Given the description of an element on the screen output the (x, y) to click on. 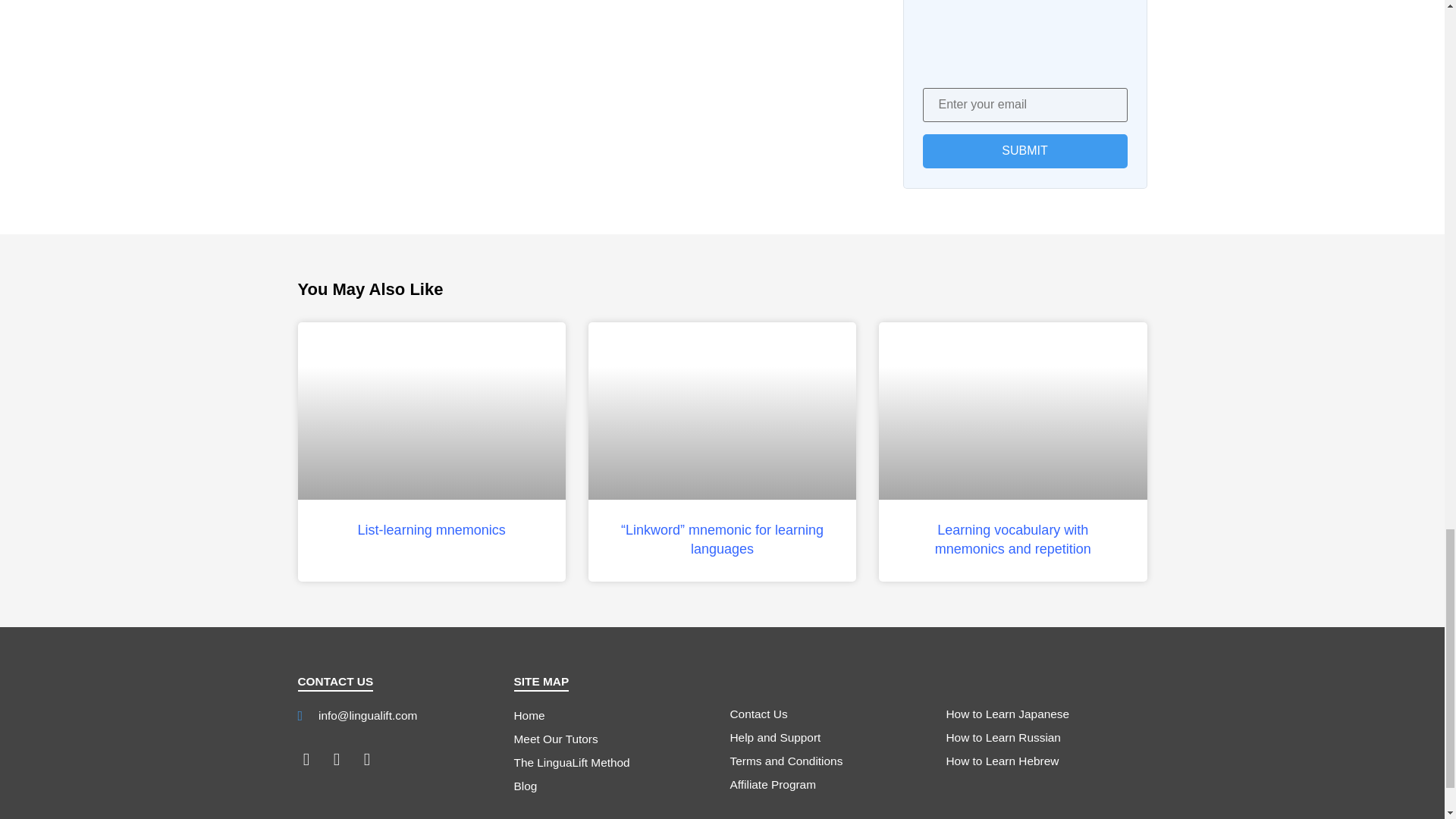
Submit (1023, 151)
Submit (1023, 151)
List-learning mnemonics (431, 529)
